Given the description of an element on the screen output the (x, y) to click on. 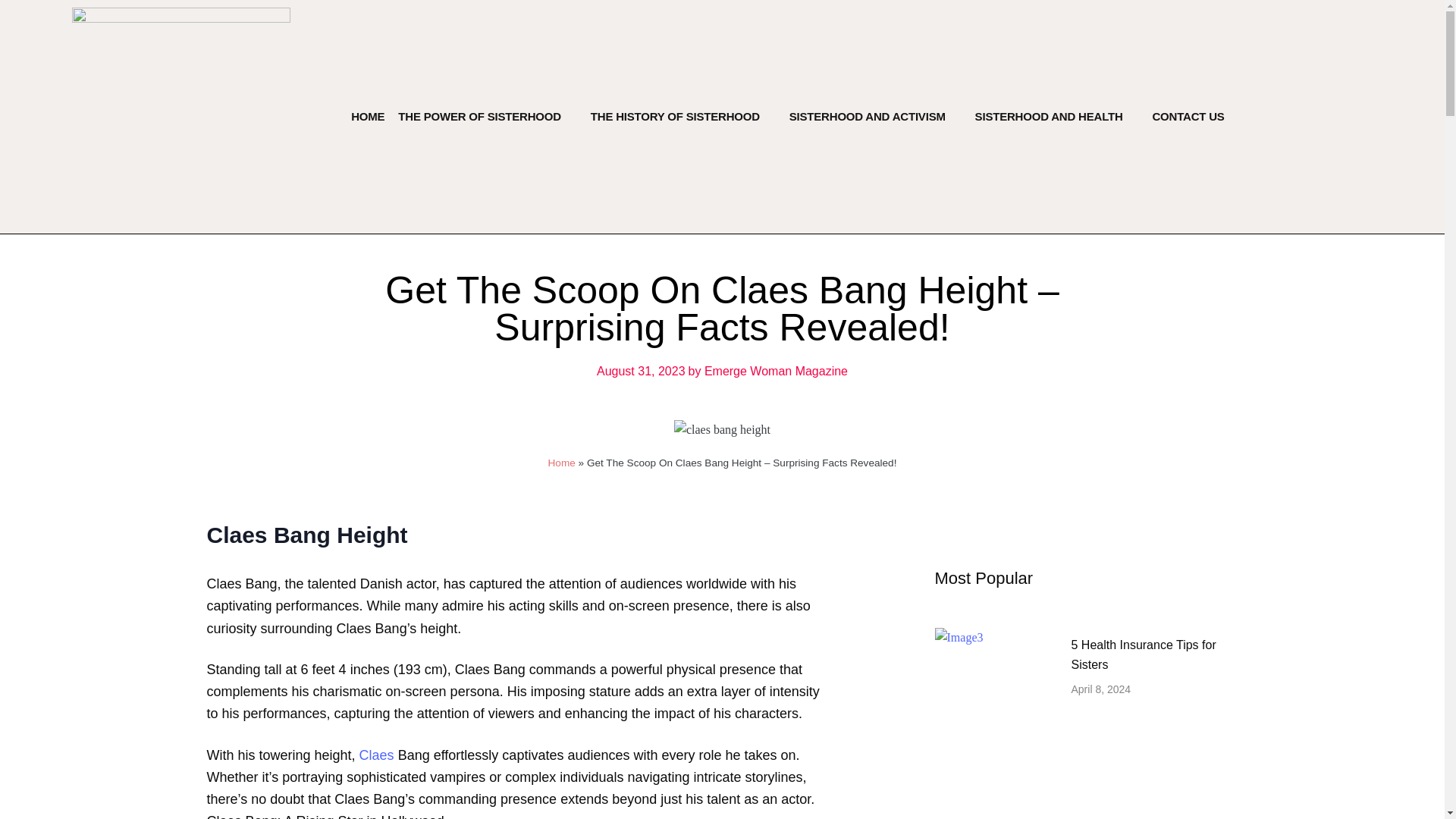
claes bang height (722, 429)
HOME (367, 116)
Claes (376, 755)
Claes (376, 755)
CONTACT US (1187, 116)
THE HISTORY OF SISTERHOOD (675, 116)
Home (561, 463)
5 Health Insurance Tips for Sisters (1153, 654)
THE POWER OF SISTERHOOD (478, 116)
SISTERHOOD AND ACTIVISM (866, 116)
